Given the description of an element on the screen output the (x, y) to click on. 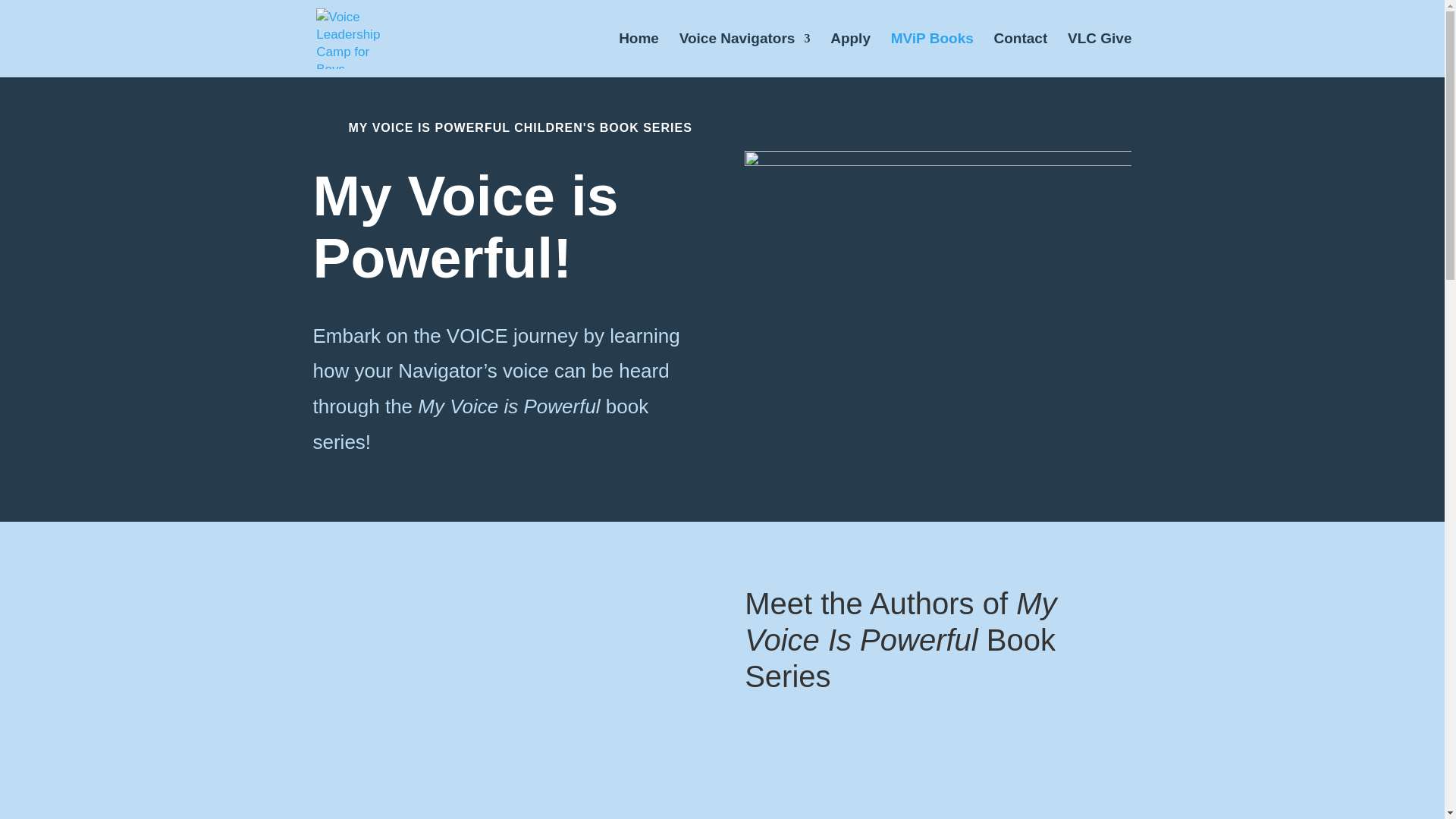
VLC Give (1099, 54)
Voice Navigators (744, 54)
MViP Books (932, 54)
Home (638, 54)
Contact (1021, 54)
MVP book covers (937, 259)
Apply (849, 54)
